Given the description of an element on the screen output the (x, y) to click on. 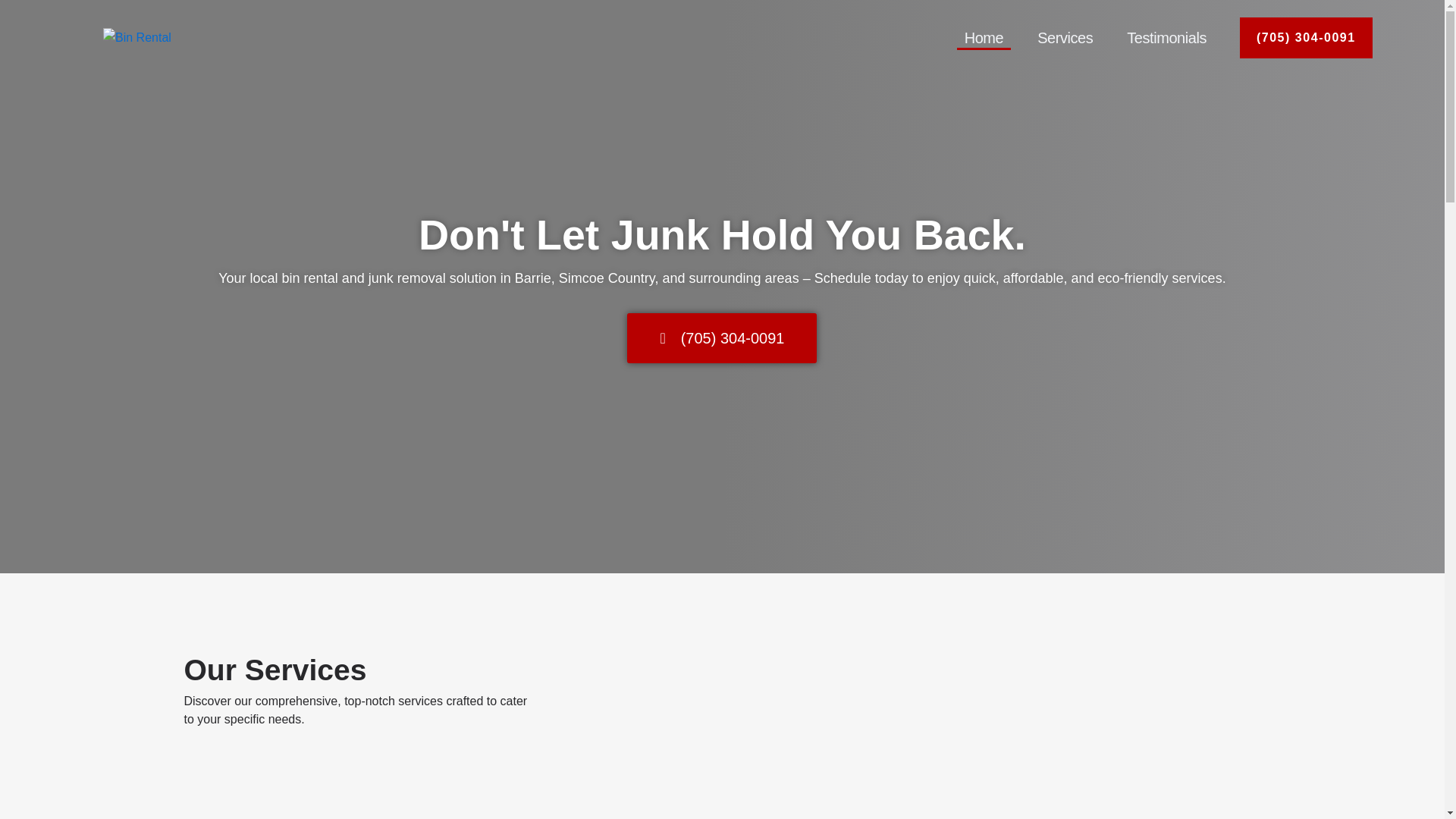
Bin rental (137, 37)
Services (1064, 37)
Home (983, 37)
Testimonials (1166, 37)
